Given the description of an element on the screen output the (x, y) to click on. 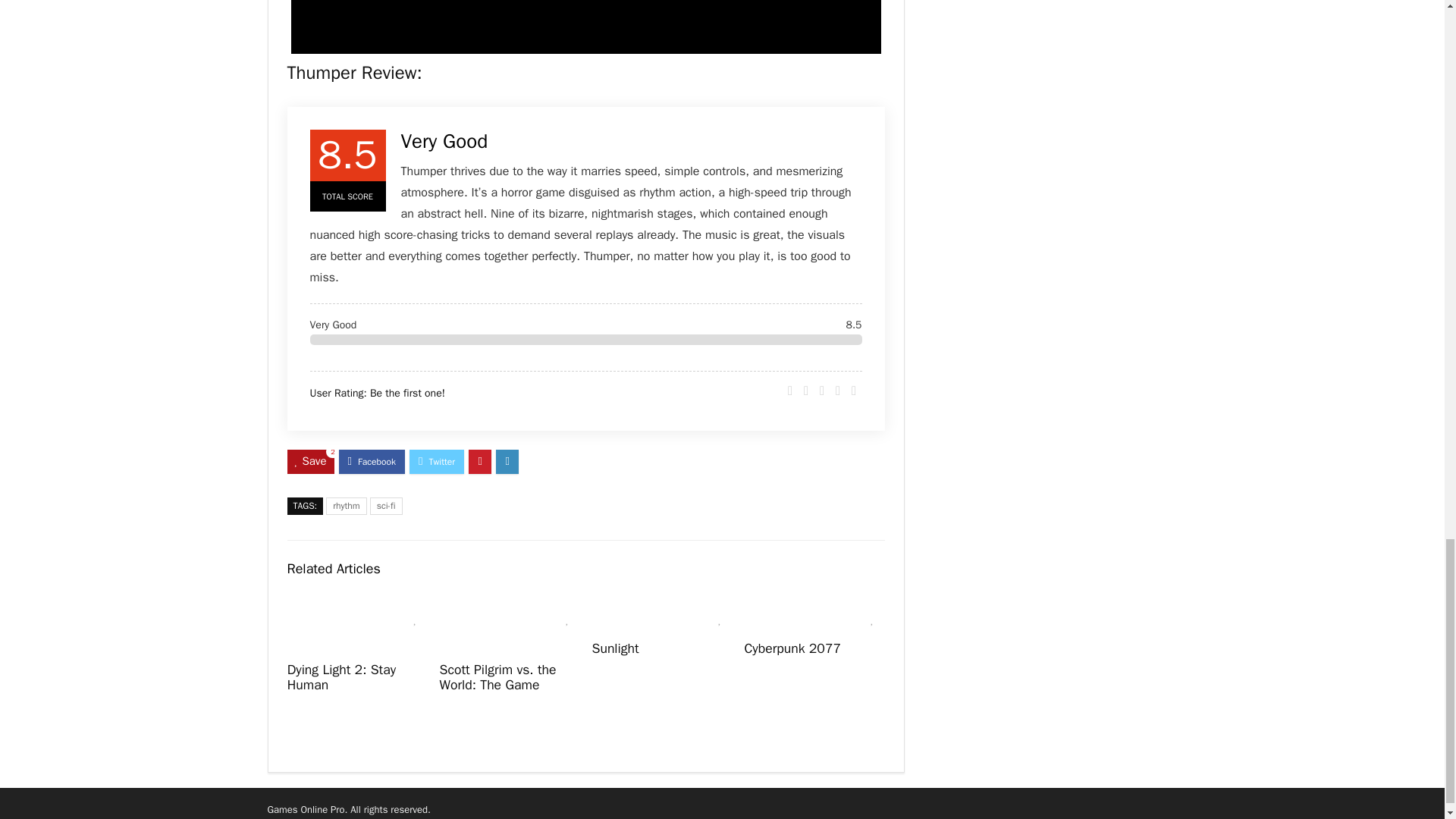
rhythm (346, 506)
Cyberpunk 2077 (792, 647)
Scott Pilgrim vs. the World: The Game (497, 676)
Sunlight (615, 647)
sci-fi (386, 506)
Dying Light 2: Stay Human (341, 676)
